Given the description of an element on the screen output the (x, y) to click on. 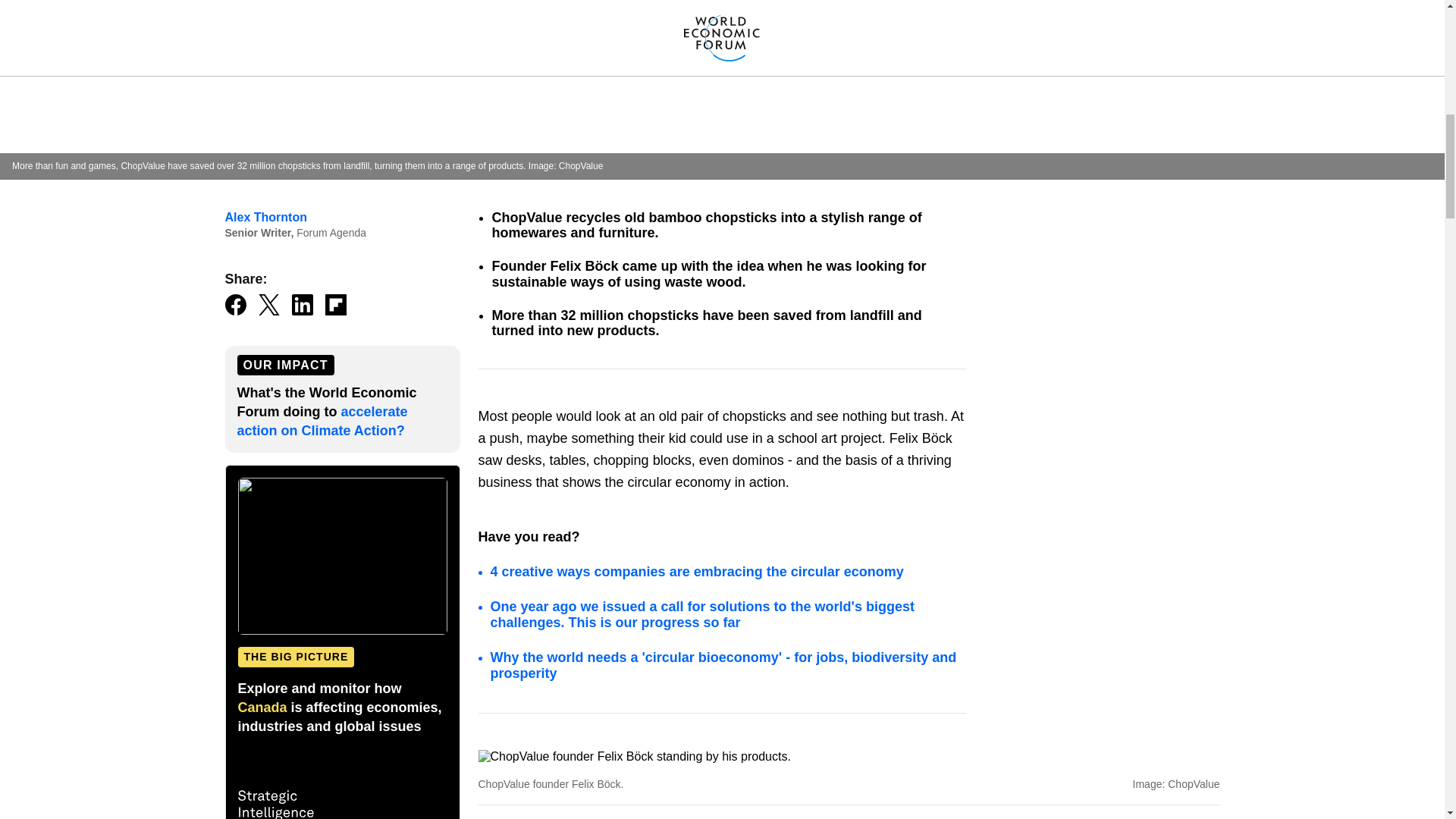
Alex Thornton (264, 216)
4 creative ways companies are embracing the circular economy (695, 571)
